Given the description of an element on the screen output the (x, y) to click on. 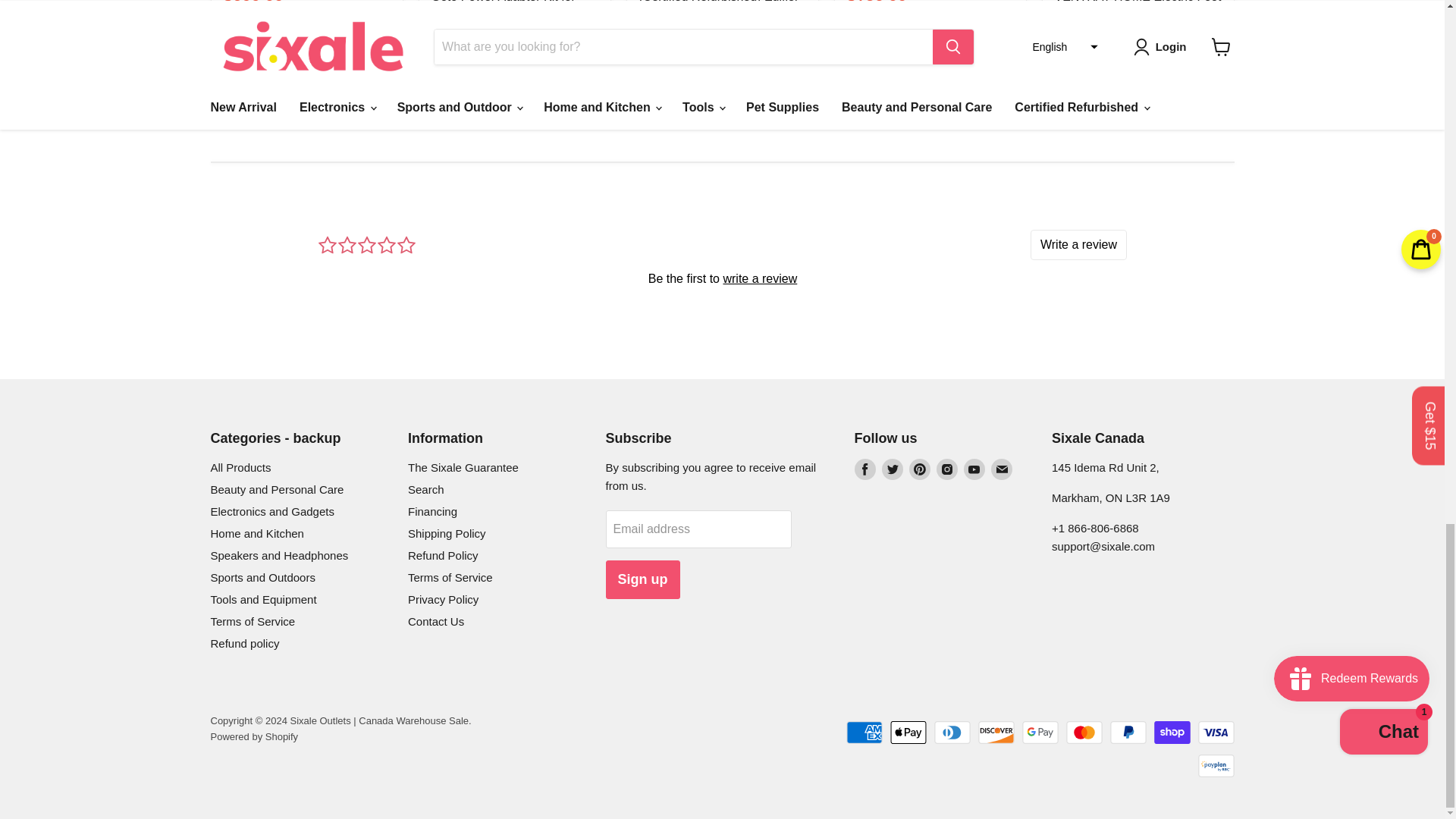
Pinterest (919, 468)
GOTO (445, 43)
Edifier (860, 76)
Twitter (891, 468)
Product reviews widget (722, 277)
Edifier (652, 43)
Edifier (236, 76)
Facebook (864, 468)
Email (1000, 468)
Ventray Home (1085, 43)
Instagram (946, 468)
Youtube (973, 468)
